Given the description of an element on the screen output the (x, y) to click on. 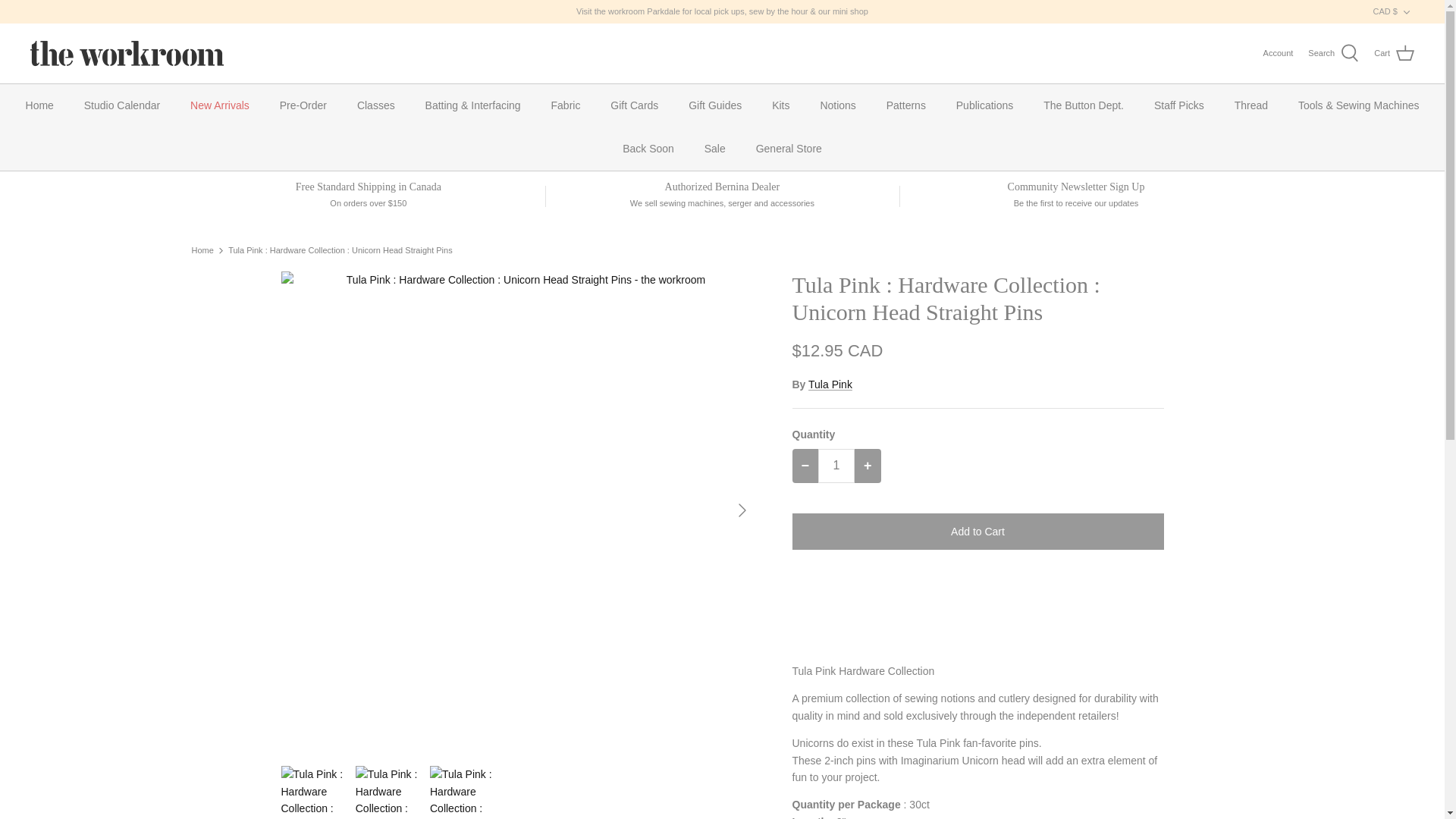
1 (836, 466)
the workroom (127, 52)
Right (741, 509)
Down (1406, 11)
